Given the description of an element on the screen output the (x, y) to click on. 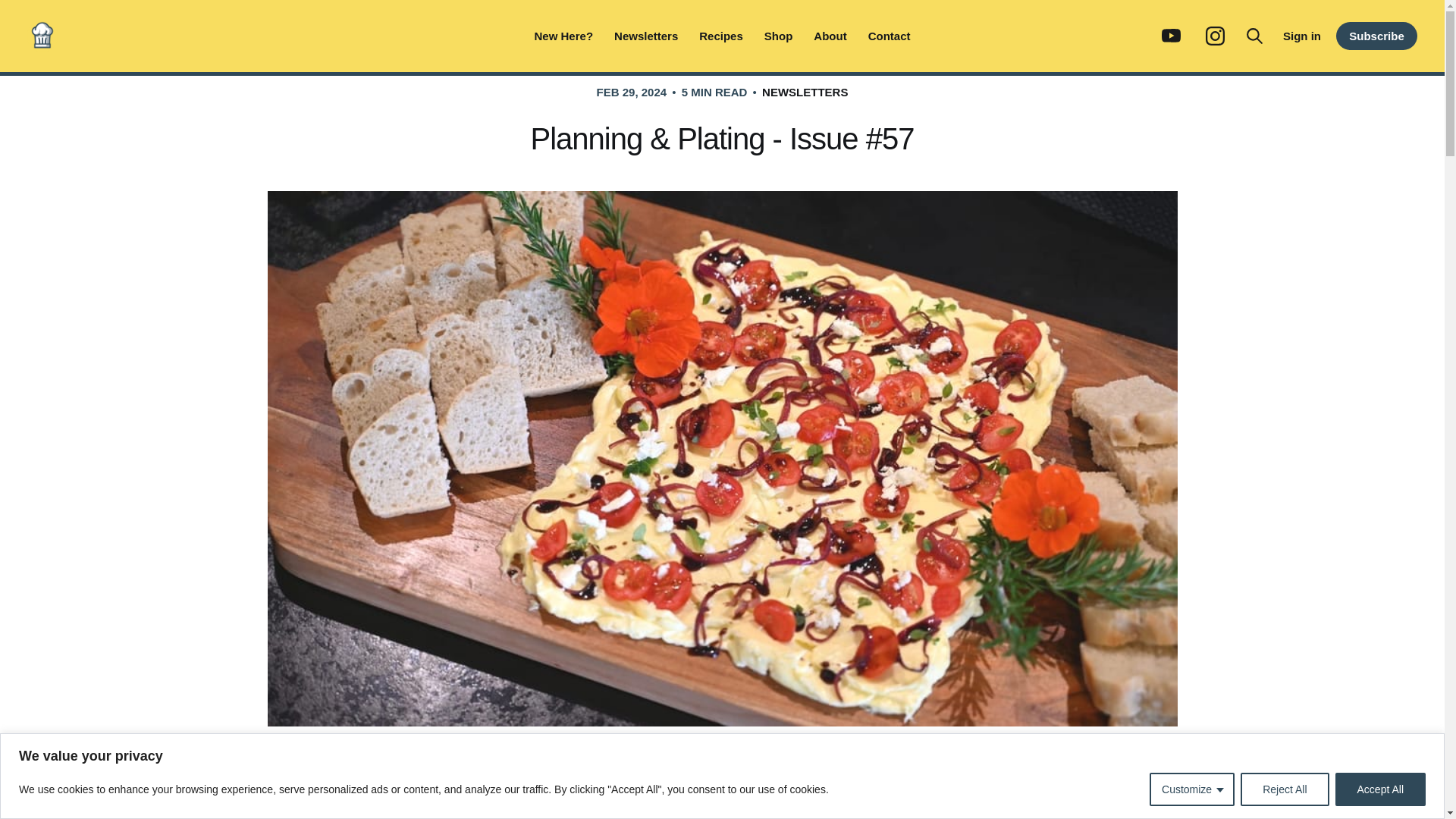
New Here? (564, 34)
Accept All (1380, 788)
Shop (778, 34)
Subscribe (1376, 36)
Reject All (1283, 788)
Sign in (1301, 36)
Contact (889, 34)
Customize (1192, 788)
About (829, 34)
Newsletters (646, 34)
NEWSLETTERS (804, 91)
Recipes (720, 34)
